Given the description of an element on the screen output the (x, y) to click on. 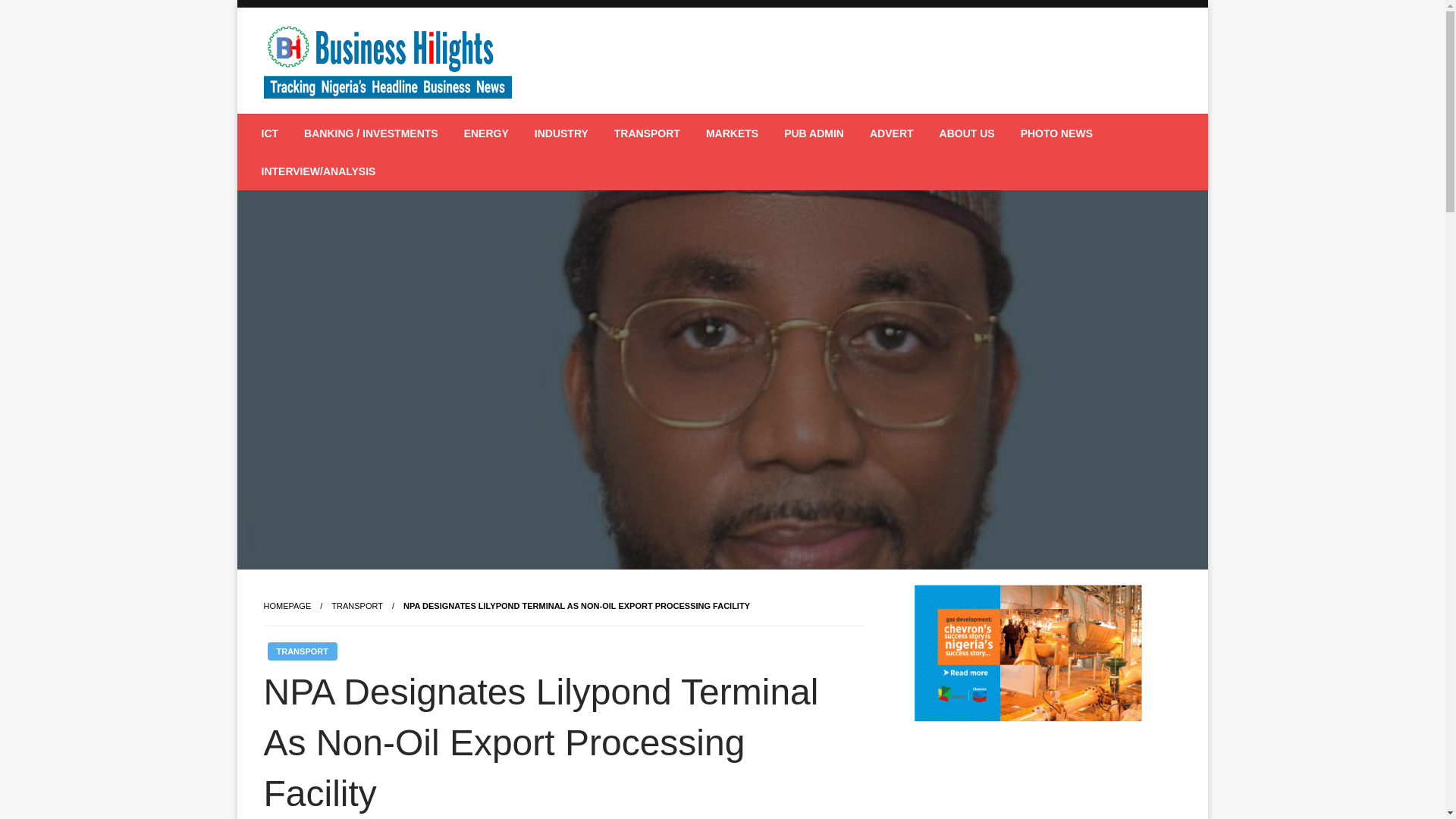
Homepage (287, 605)
HOMEPAGE (287, 605)
MARKETS (732, 133)
ABOUT US (966, 133)
Transport (356, 605)
PHOTO NEWS (1056, 133)
ENERGY (486, 133)
TRANSPORT (301, 651)
Business Hilights (379, 125)
ICT (270, 133)
INDUSTRY (561, 133)
PUB ADMIN (814, 133)
TRANSPORT (356, 605)
ADVERT (891, 133)
